Given the description of an element on the screen output the (x, y) to click on. 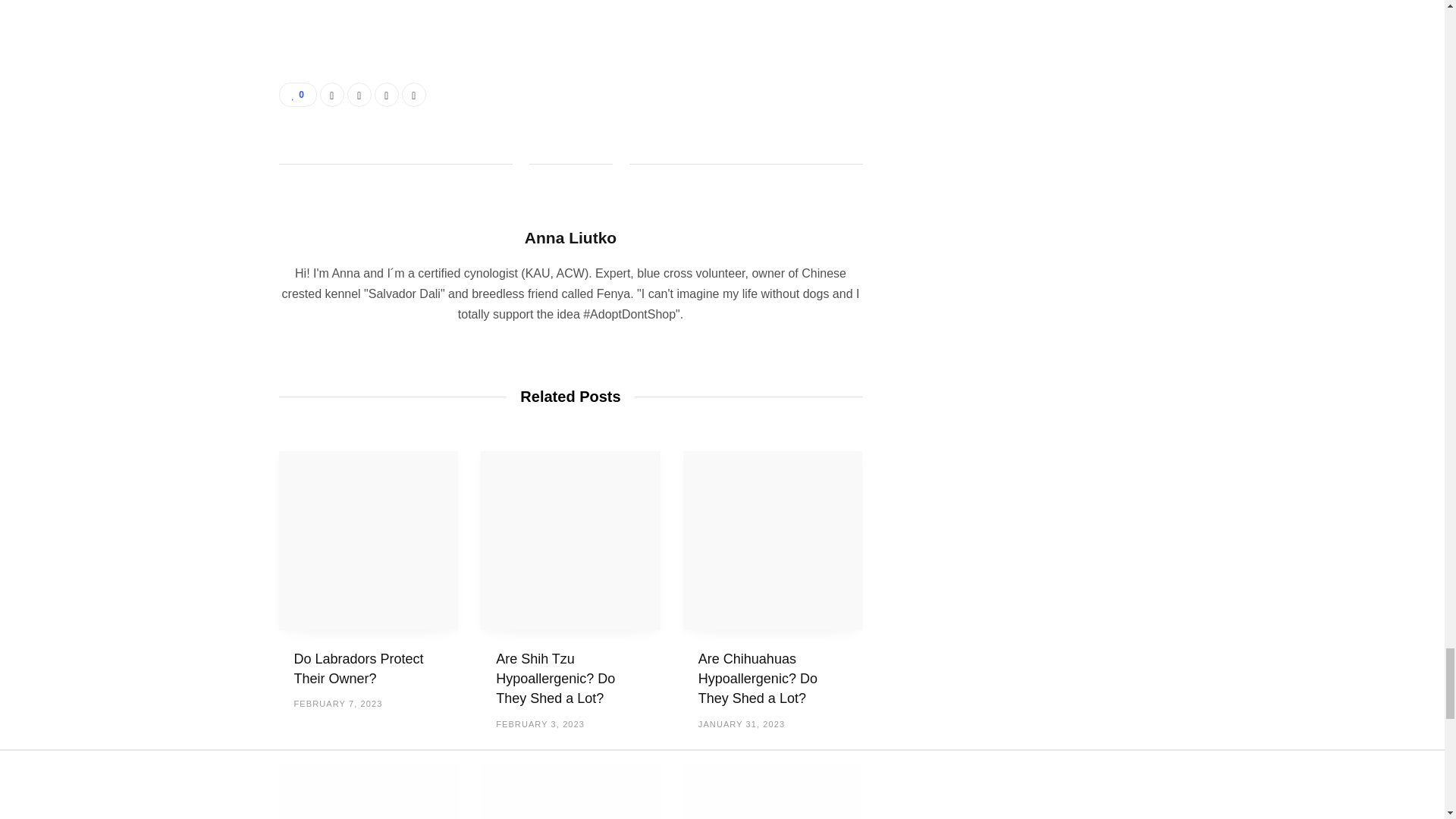
Pinterest (413, 94)
Share on Facebook (331, 94)
Share on Twitter (359, 94)
Posts by Anna Liutko (569, 237)
LinkedIn (386, 94)
Do Labradors Protect Their Owner? (368, 540)
